Given the description of an element on the screen output the (x, y) to click on. 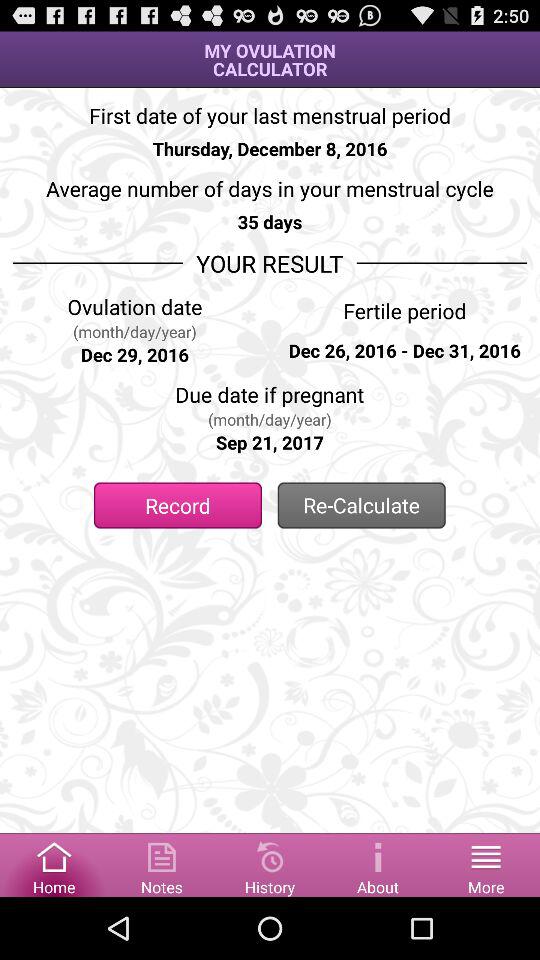
more options (486, 864)
